Given the description of an element on the screen output the (x, y) to click on. 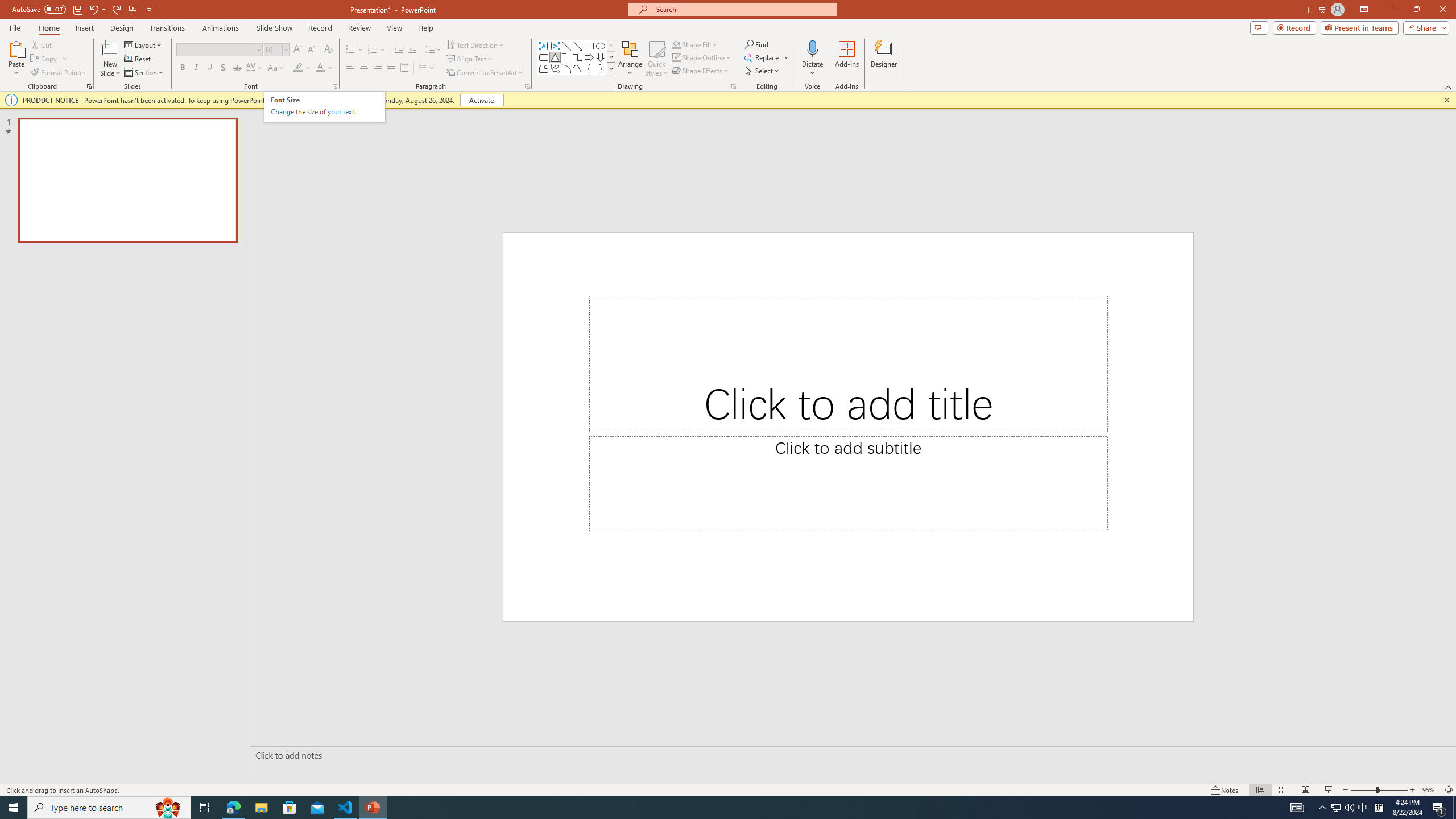
Line up (1448, 22)
Align (924, 72)
VMware Workstation Pro (32, 563)
Position (678, 92)
Notion (32, 102)
Send Backward (818, 77)
2404.05719v1.pdf (1405, 254)
Text Direction (44, 92)
More (637, 107)
